Given the description of an element on the screen output the (x, y) to click on. 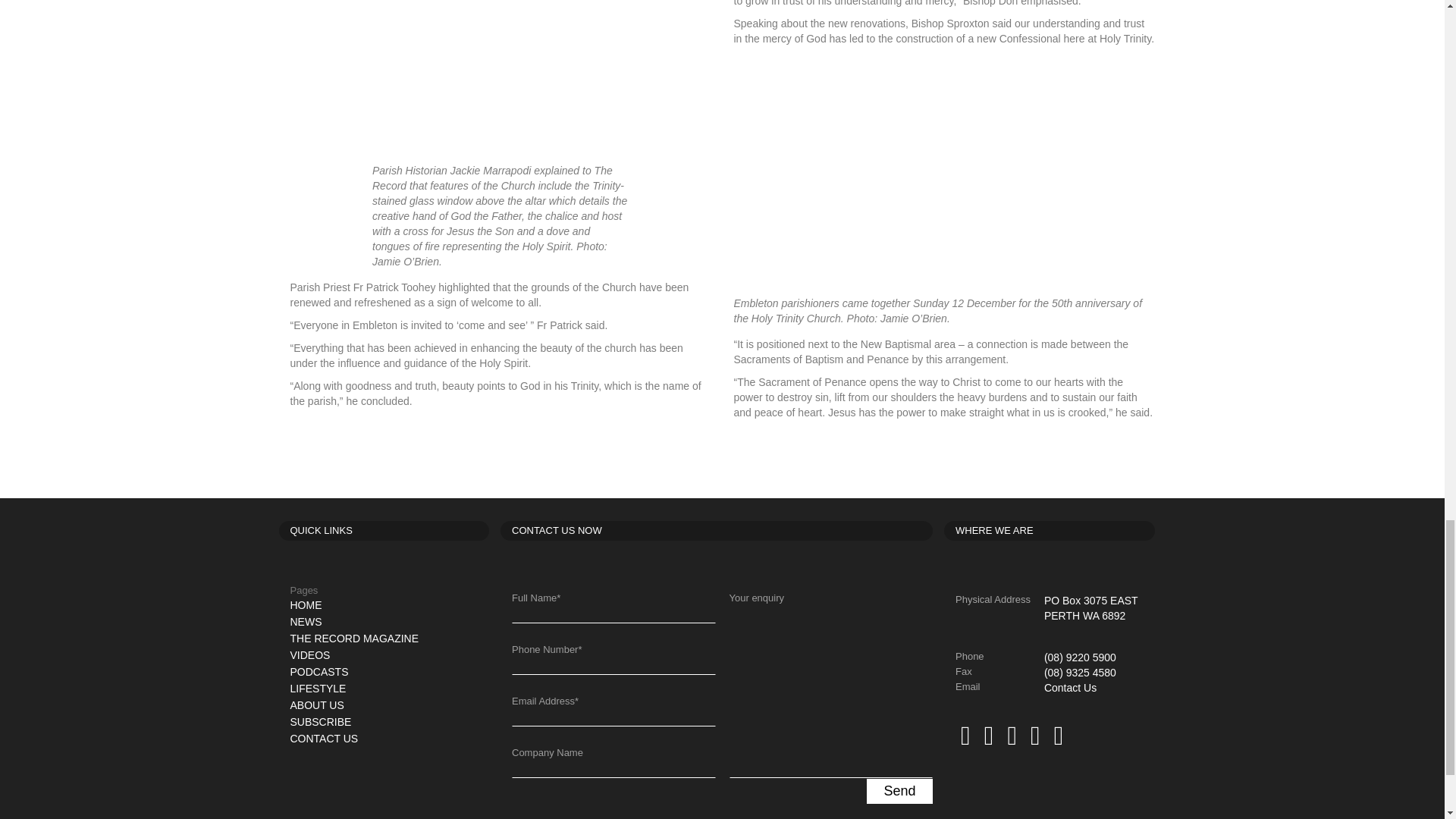
Send (899, 790)
